Given the description of an element on the screen output the (x, y) to click on. 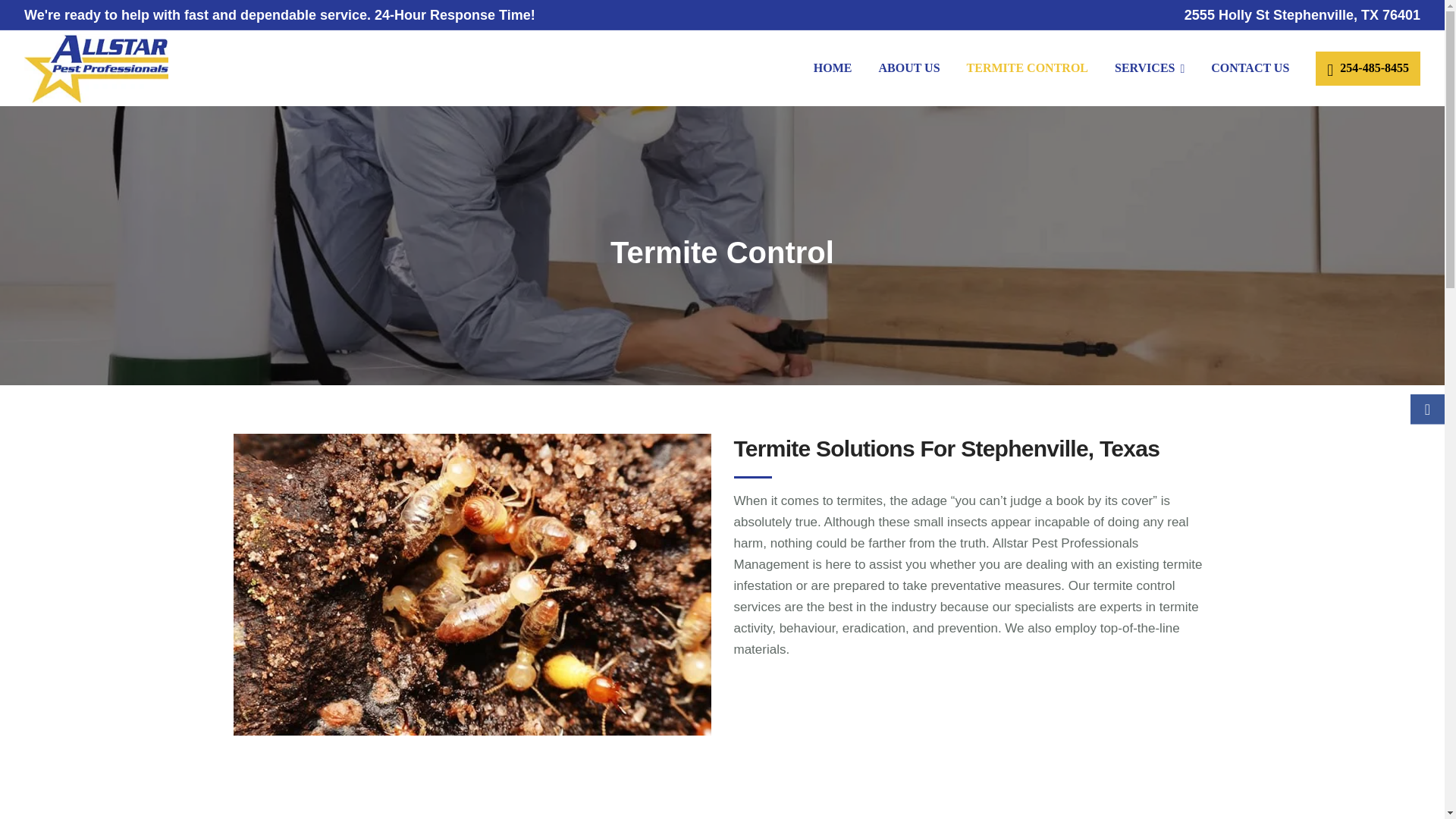
SERVICES (1150, 68)
TERMITE CONTROL (1026, 68)
254-485-8455 (1368, 68)
2555 Holly St Stephenville, TX 76401 (1303, 15)
CONTACT US (1249, 68)
